Given the description of an element on the screen output the (x, y) to click on. 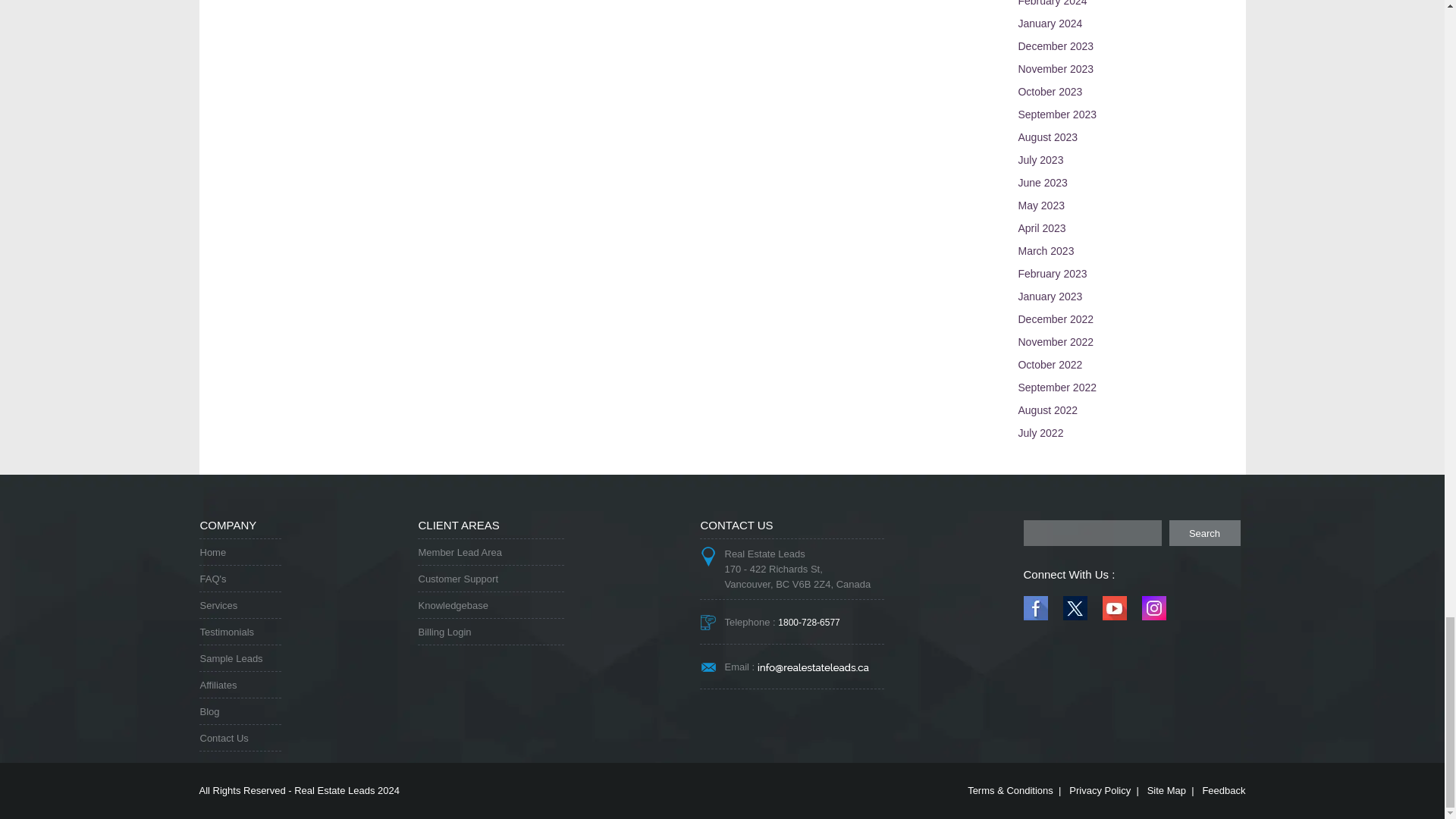
Search (1204, 533)
Search (1204, 533)
